Given the description of an element on the screen output the (x, y) to click on. 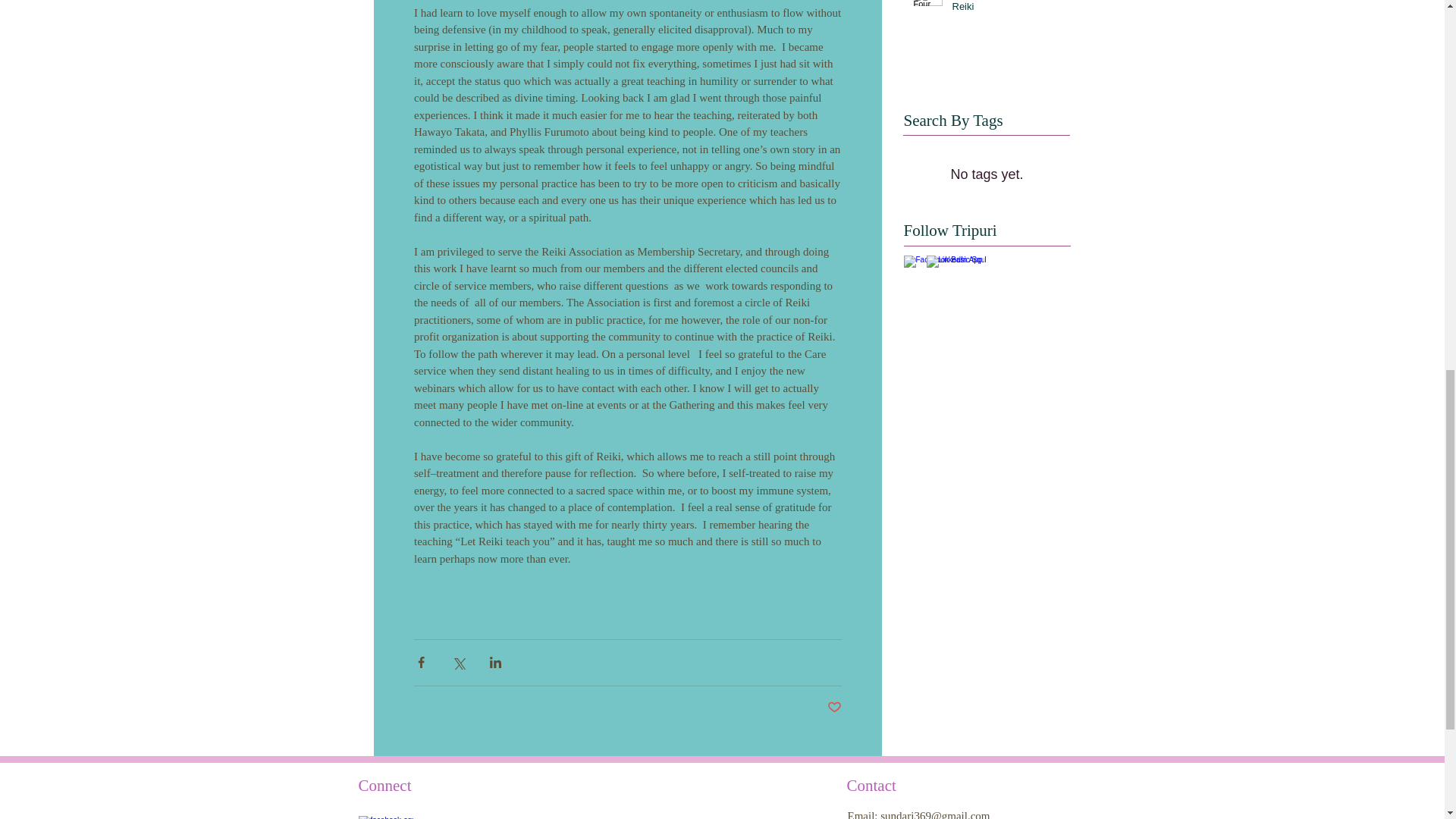
Post not marked as liked (834, 707)
The Four Aspects of Reiki (1006, 9)
Like on Facebook (422, 818)
